Given the description of an element on the screen output the (x, y) to click on. 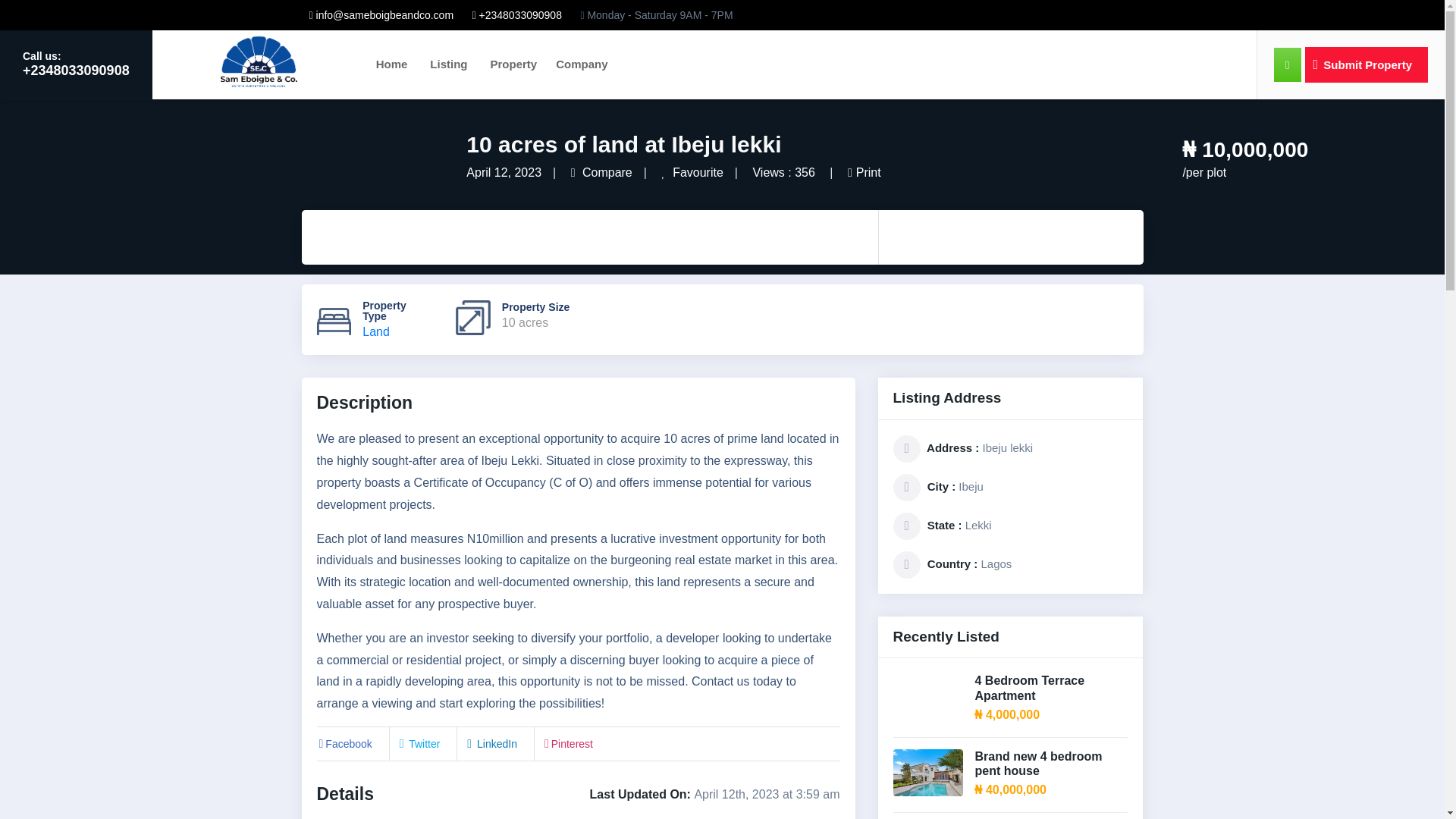
Twitter (419, 743)
Monday - Saturday 9AM - 7PM (655, 15)
Compare (600, 172)
Favourite (691, 172)
Submit Property (1366, 64)
Pinterest (566, 743)
Facebook (344, 743)
Land (376, 331)
LinkedIn (490, 743)
Print (863, 172)
Property (513, 64)
